Given the description of an element on the screen output the (x, y) to click on. 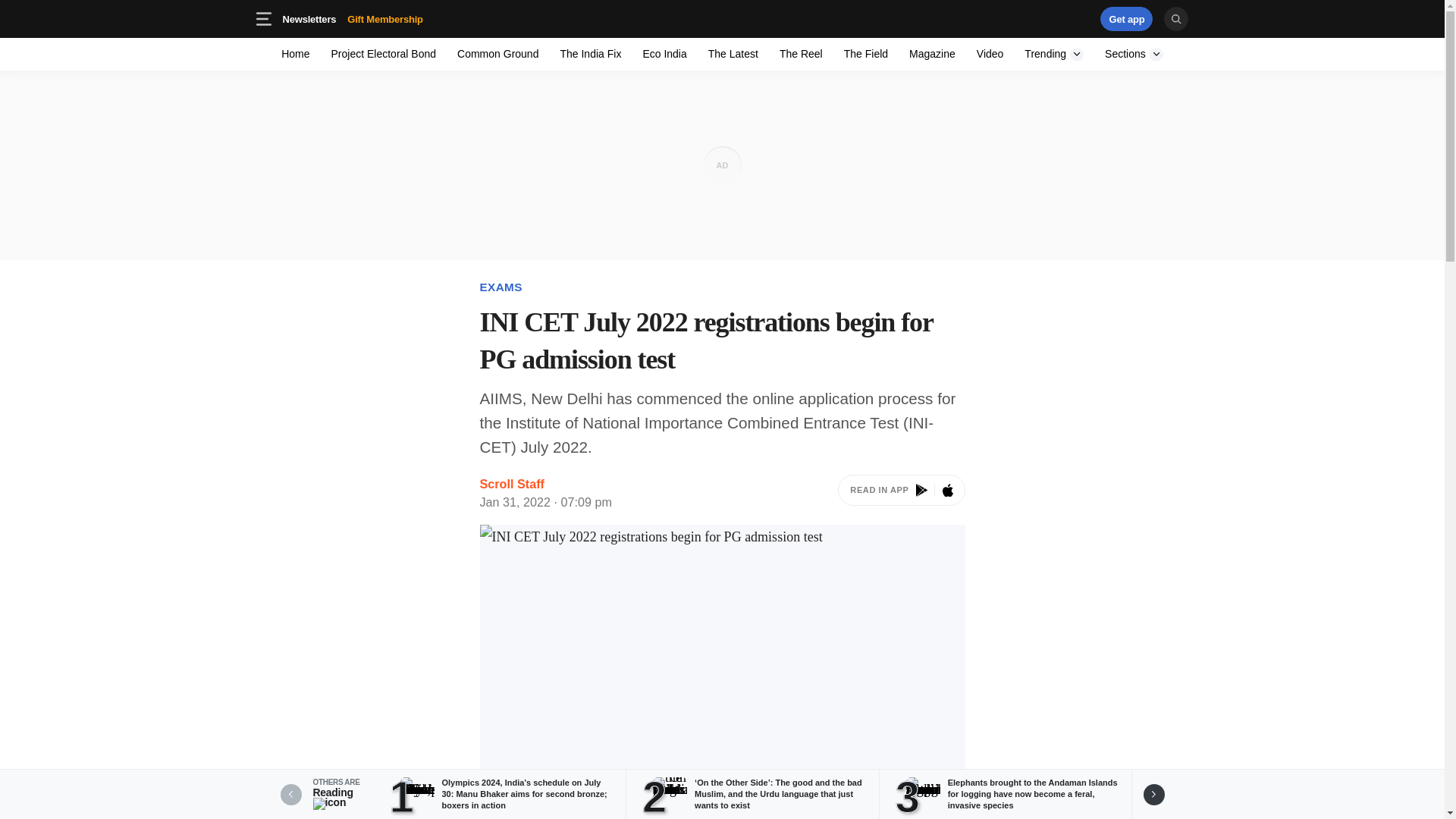
Get app (721, 18)
Get app (1126, 18)
Trending (1126, 18)
Home (1053, 53)
Eco India (295, 53)
Project Electoral Bond (664, 53)
Sections (409, 18)
The Field (383, 53)
The India Fix (352, 18)
Gift Membership (1134, 53)
The Reel (865, 53)
Get app (590, 53)
